Given the description of an element on the screen output the (x, y) to click on. 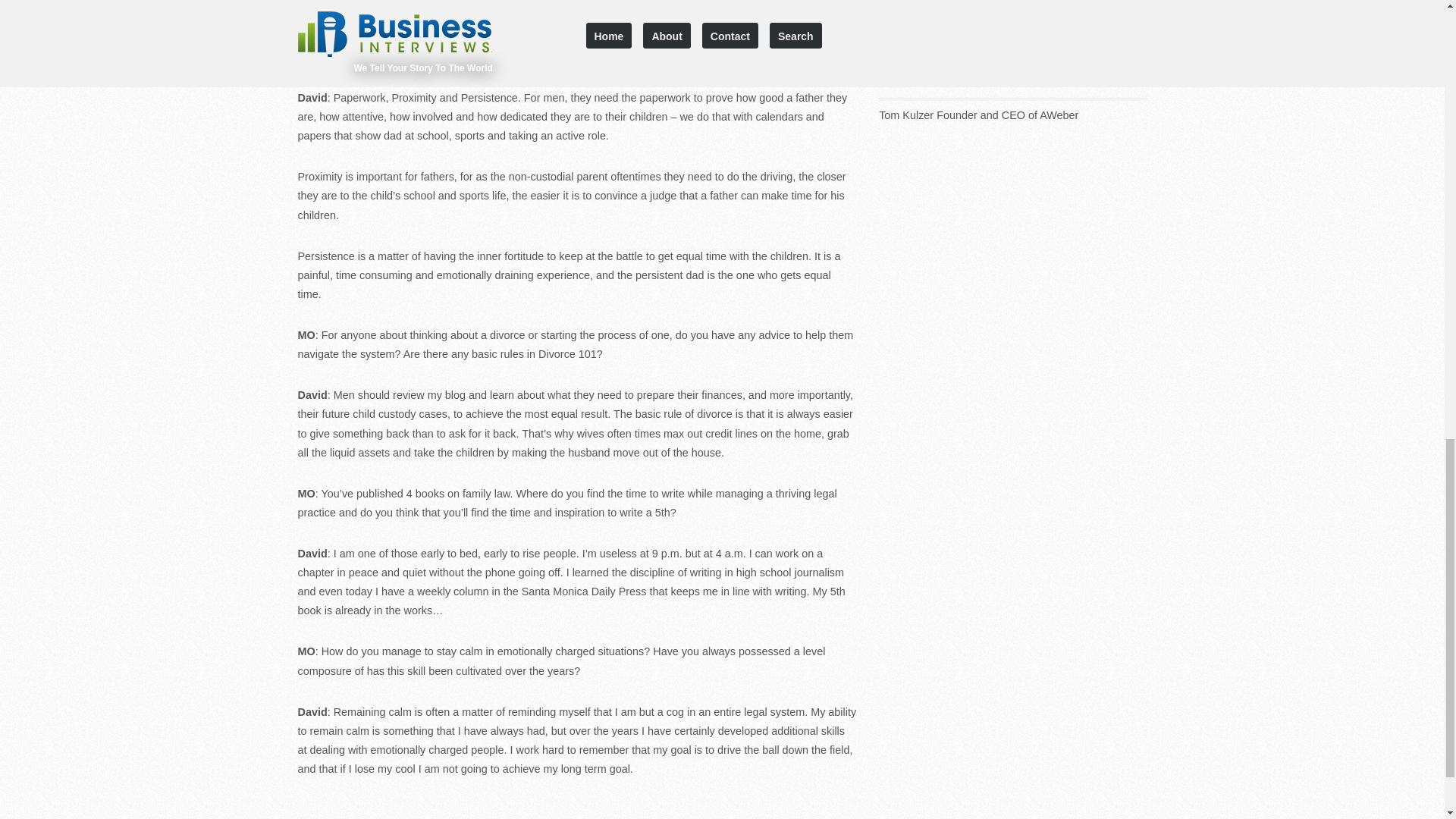
Tim Ash Founder of SiteTuners and Conversion Conference (1013, 39)
Scott Ferber Co founder of Advertising.com (1013, 3)
Tom Kulzer Founder and CEO of AWeber (1013, 115)
Tim Storm Founder and CEO of FatWallet (1013, 81)
